Given the description of an element on the screen output the (x, y) to click on. 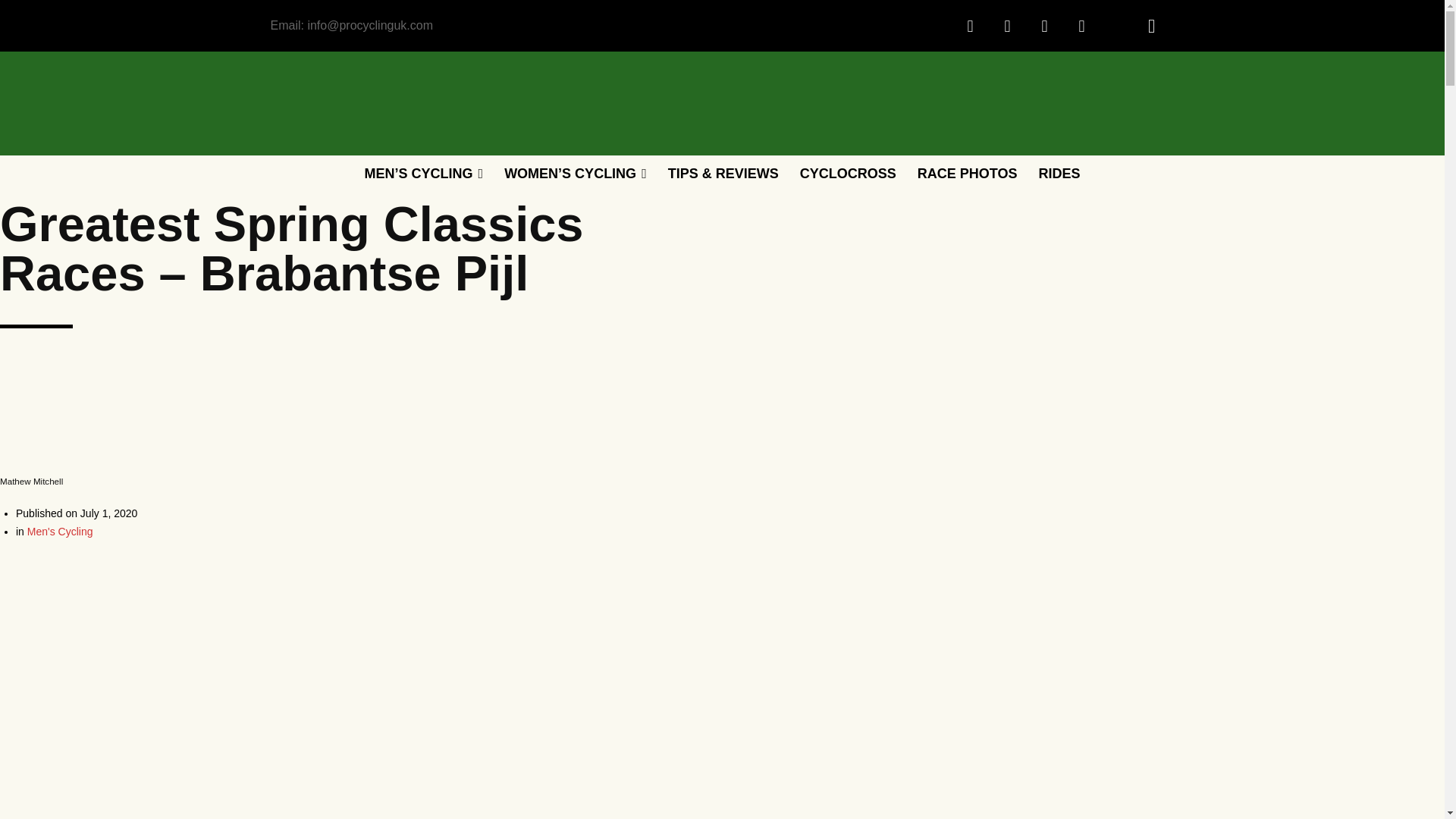
CYCLOCROSS (848, 173)
Instagram (1006, 26)
RACE PHOTOS (967, 173)
RIDES (1058, 173)
Facebook (970, 26)
Twitter (1044, 26)
Youtube (1080, 26)
Men's Cycling (60, 531)
